Given the description of an element on the screen output the (x, y) to click on. 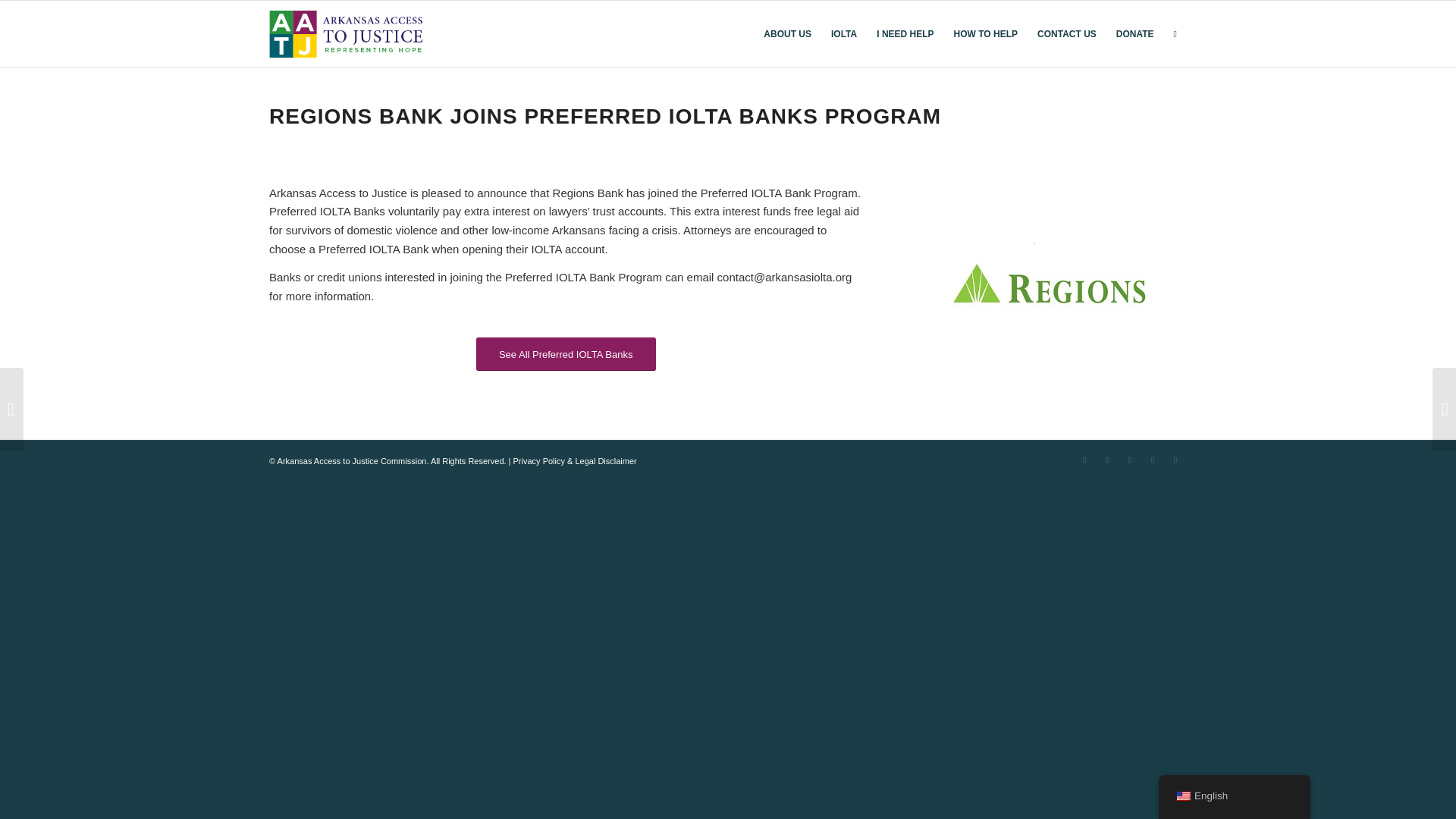
Instagram (1152, 458)
HOW TO HELP (985, 33)
CONTACT US (1066, 33)
Twitter (1084, 458)
Youtube (1129, 458)
AATJlogo (346, 33)
ABOUT US (787, 33)
Mail (1174, 458)
Facebook (1107, 458)
See All Preferred IOLTA Banks (566, 354)
I NEED HELP (904, 33)
Privacy Policy (538, 461)
